Given the description of an element on the screen output the (x, y) to click on. 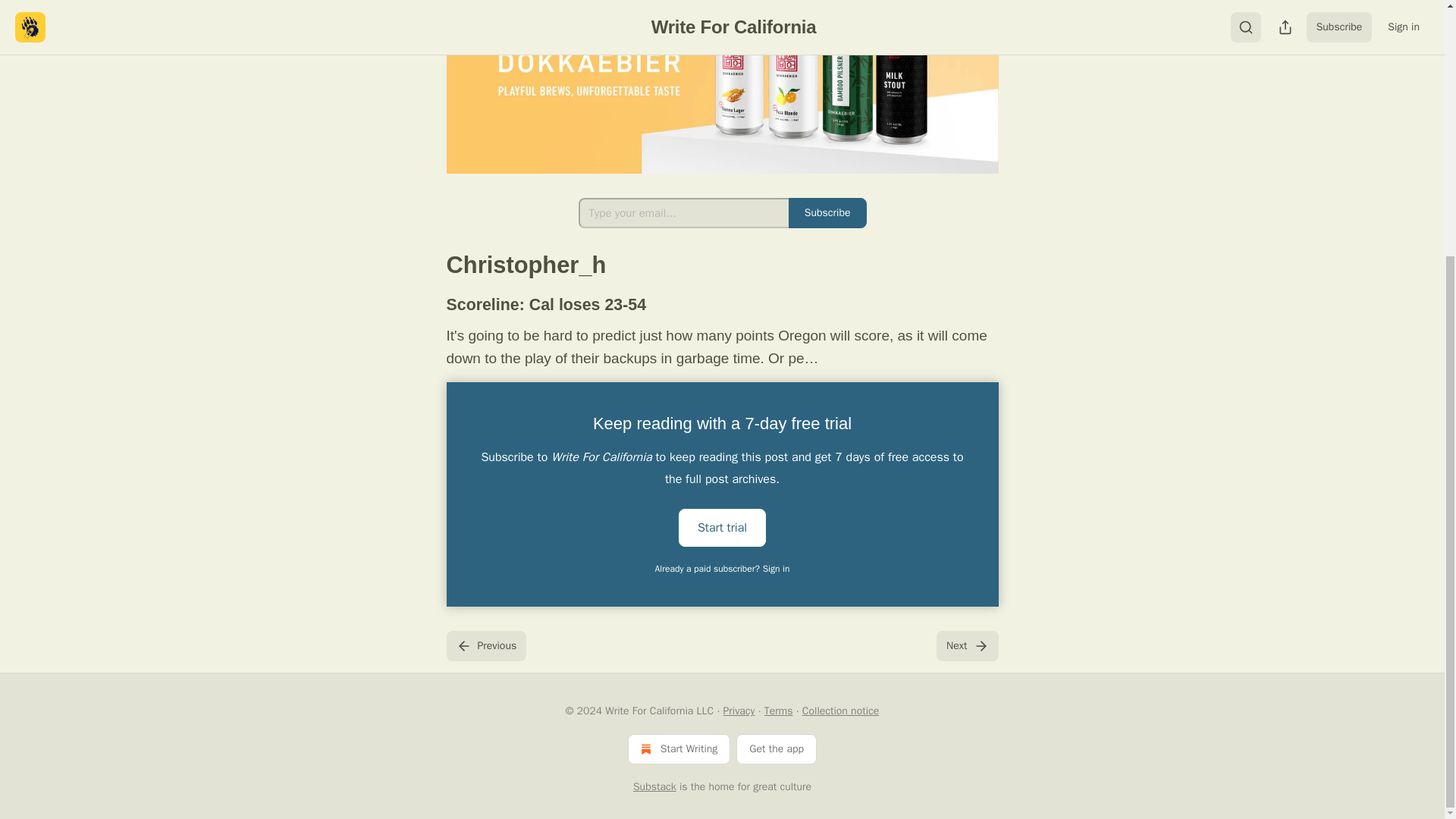
Privacy (739, 710)
Already a paid subscriber? Sign in (722, 568)
Start trial (721, 527)
Previous (485, 645)
Start trial (721, 526)
Subscribe (827, 213)
Terms (778, 710)
Next (966, 645)
Collection notice (840, 710)
